Given the description of an element on the screen output the (x, y) to click on. 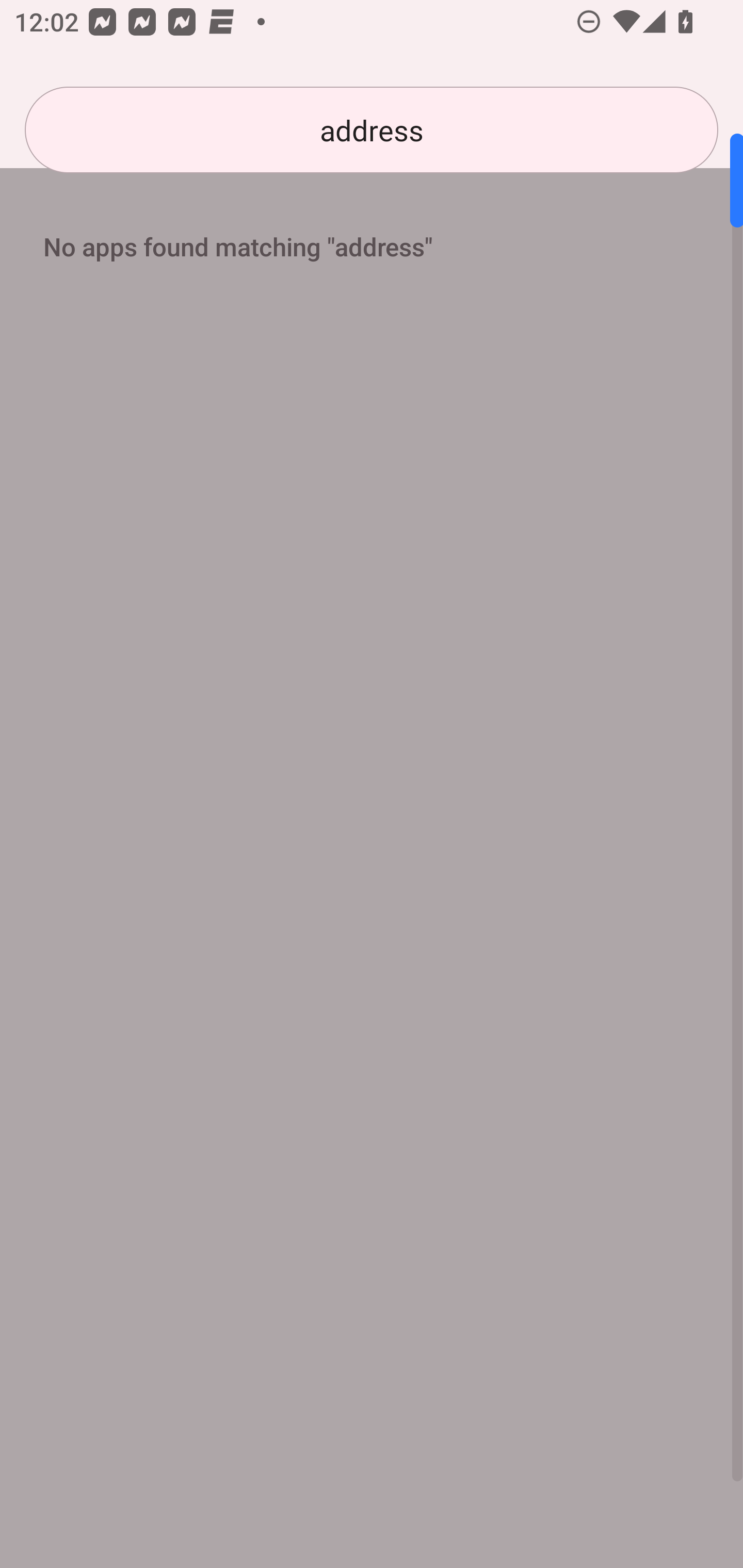
address (371, 130)
